Given the description of an element on the screen output the (x, y) to click on. 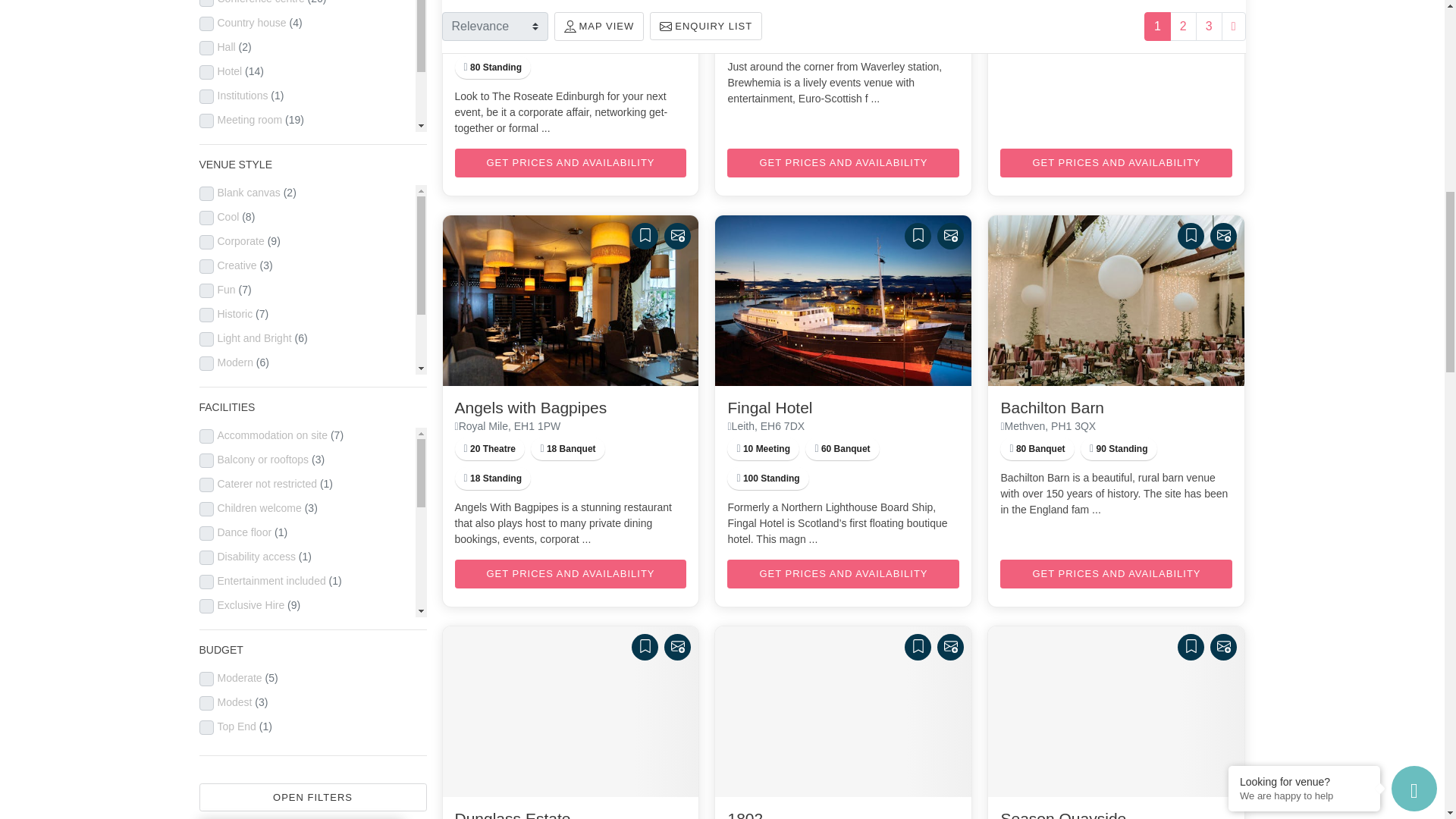
OPEN FILTERS (312, 797)
Offers available (497, 9)
OPEN FILTERS (312, 795)
